Given the description of an element on the screen output the (x, y) to click on. 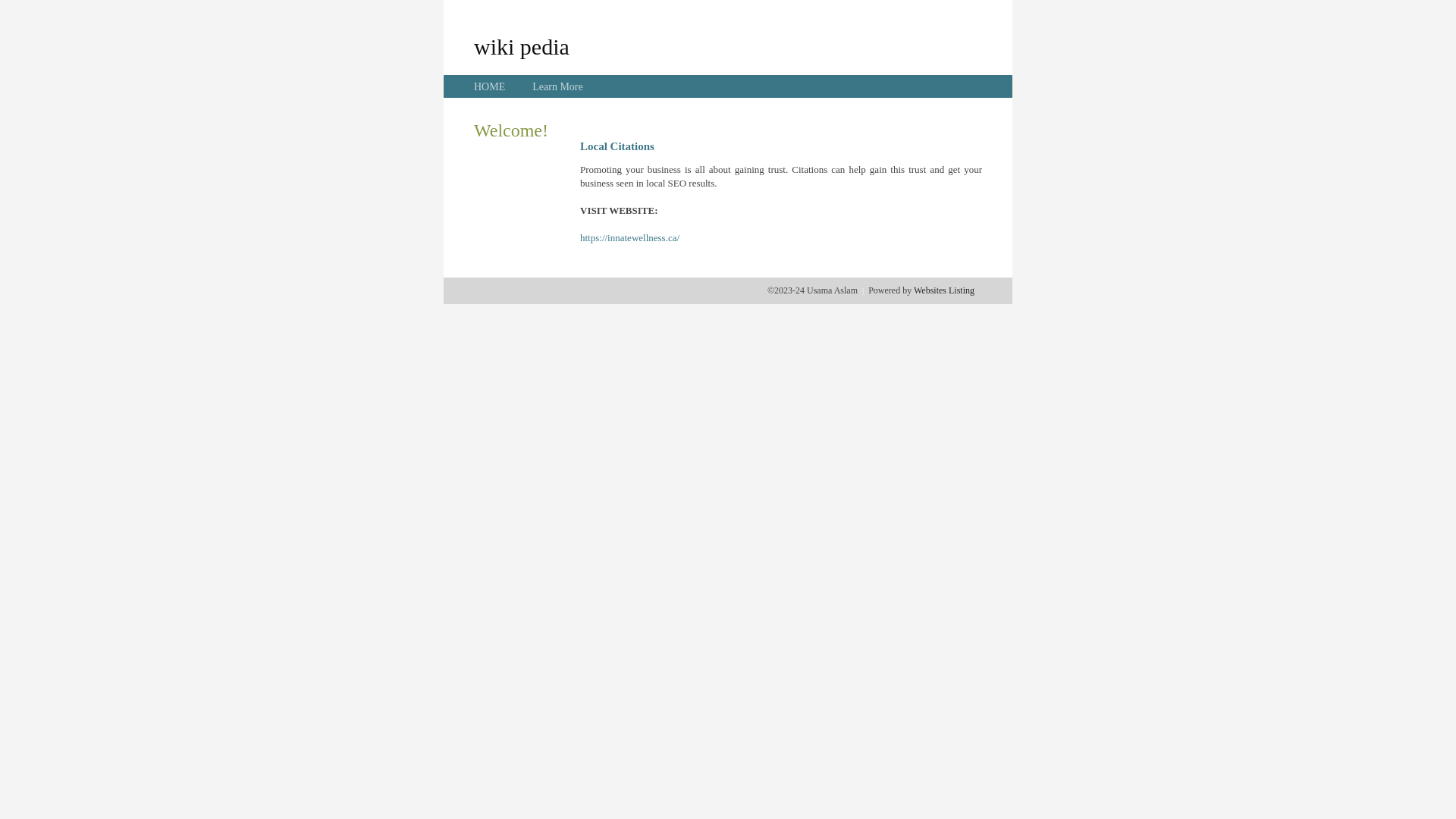
Websites Listing Element type: text (943, 290)
https://innatewellness.ca/ Element type: text (629, 237)
wiki pedia Element type: text (521, 46)
HOME Element type: text (489, 86)
Learn More Element type: text (557, 86)
